Given the description of an element on the screen output the (x, y) to click on. 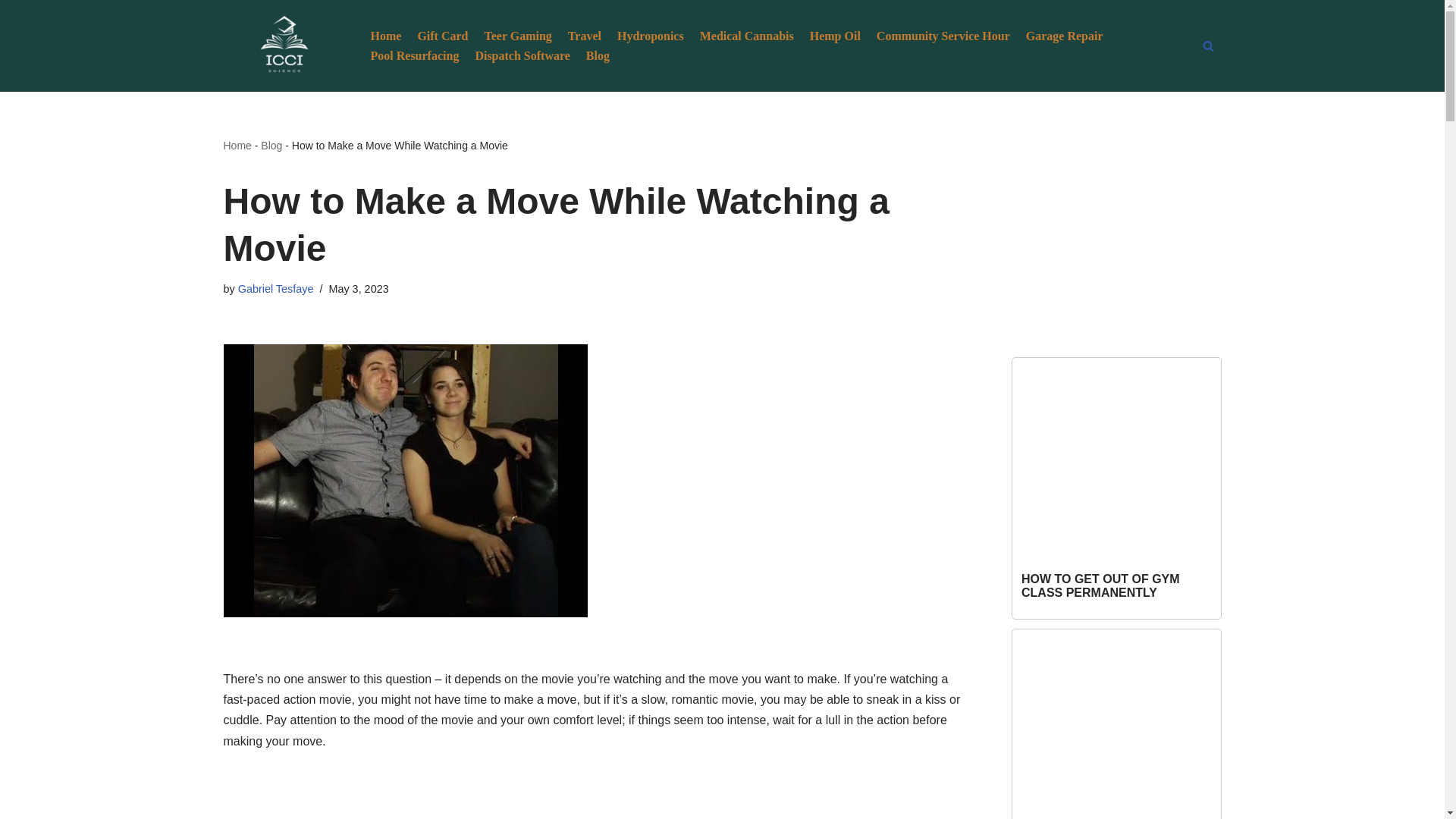
Hemp Oil (834, 35)
Pool Resurfacing (413, 55)
Teer Gaming (517, 35)
Dispatch Software (521, 55)
Gift Card (441, 35)
Gabriel Tesfaye (276, 288)
Medical Cannabis (746, 35)
Home (385, 35)
Blog (598, 55)
Hydroponics (650, 35)
